Given the description of an element on the screen output the (x, y) to click on. 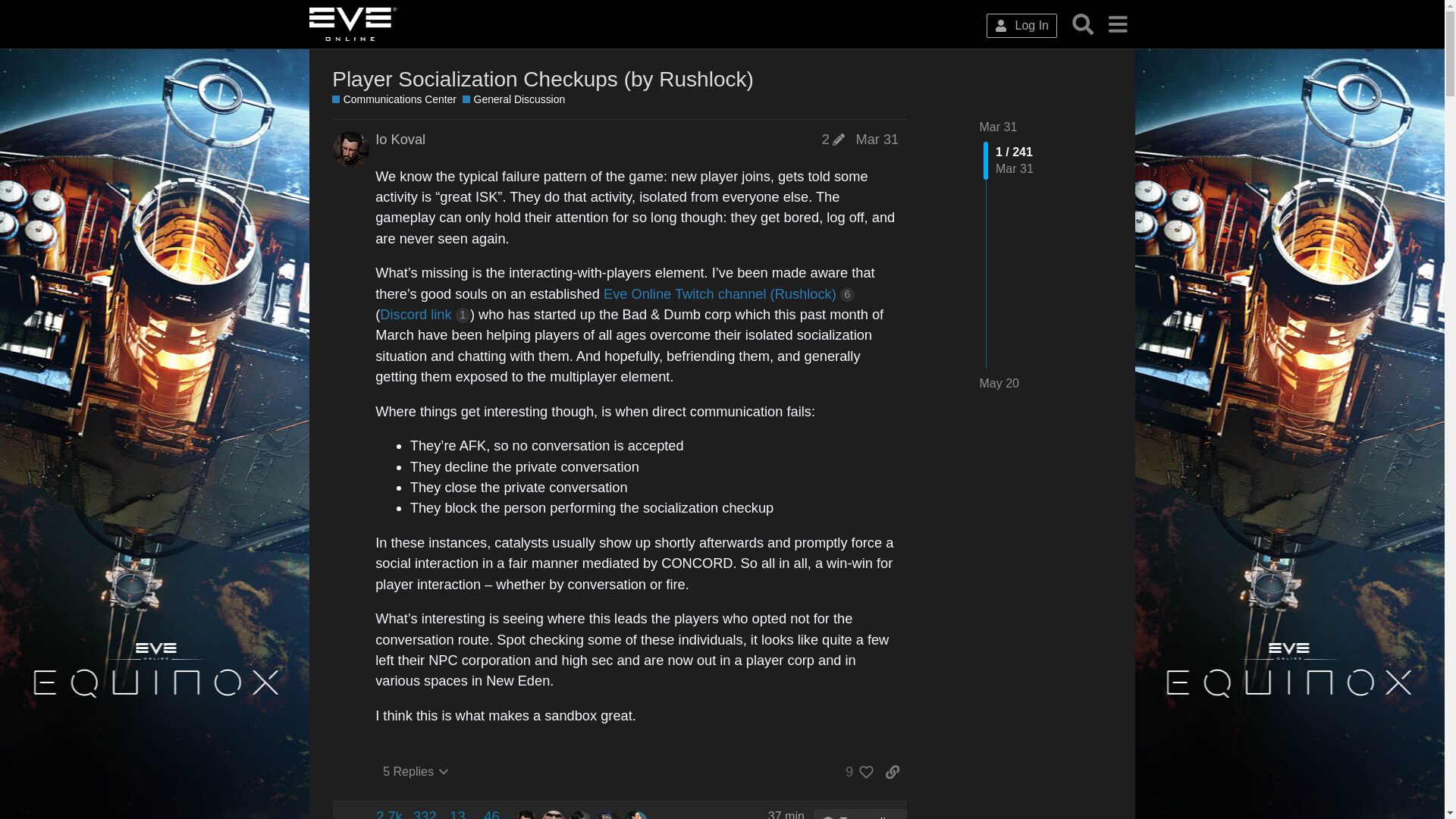
9 (389, 813)
Felix Frostpacker (855, 771)
The place for general discussions about EVE Online. (553, 814)
5 Replies (513, 99)
Communications Center (425, 813)
Search (416, 771)
copy a link to this post to clipboard (394, 99)
General Discussion (1082, 23)
